Given the description of an element on the screen output the (x, y) to click on. 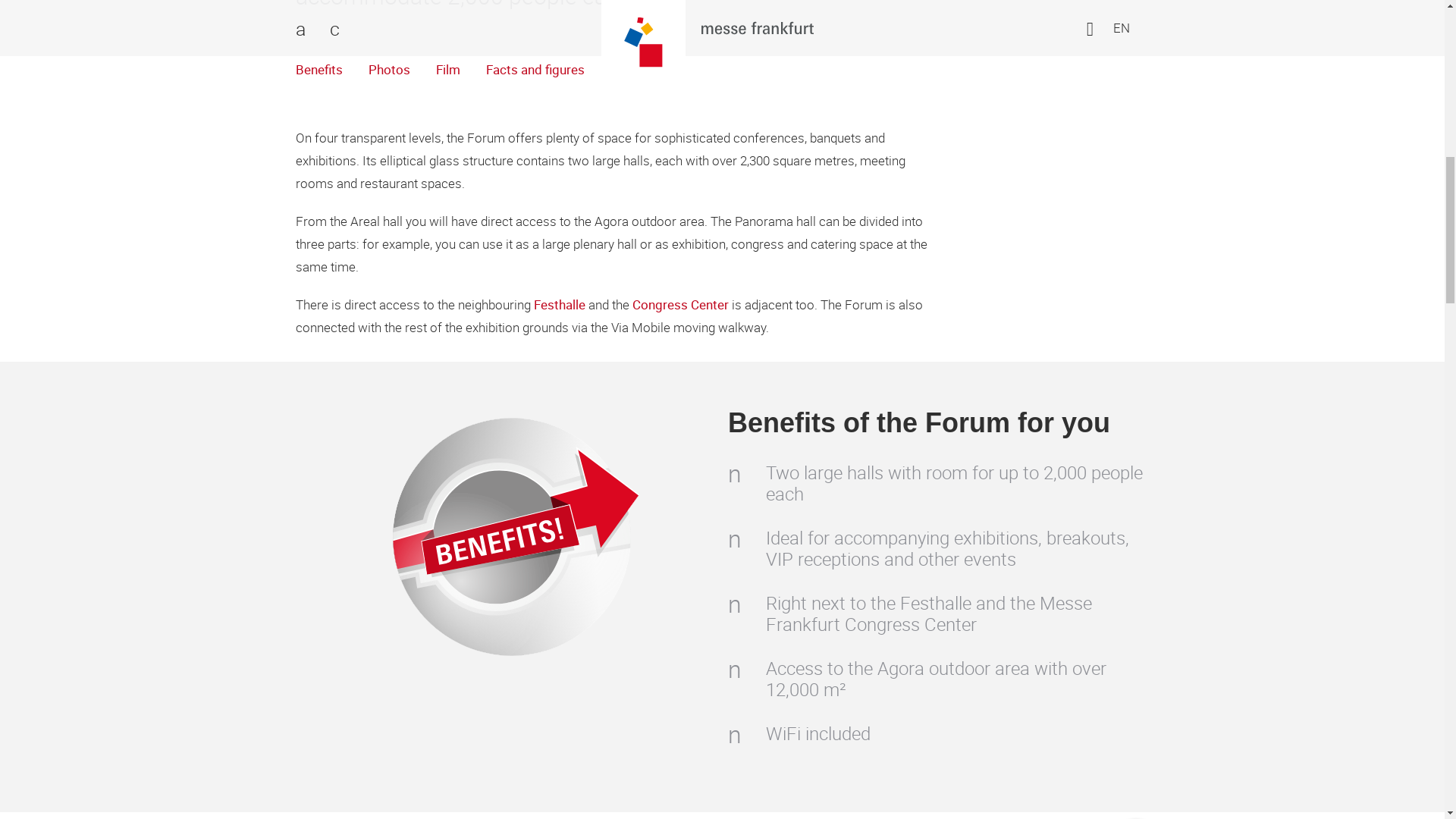
Link to the Congress Center (680, 304)
Link to Festhalle (559, 304)
